Given the description of an element on the screen output the (x, y) to click on. 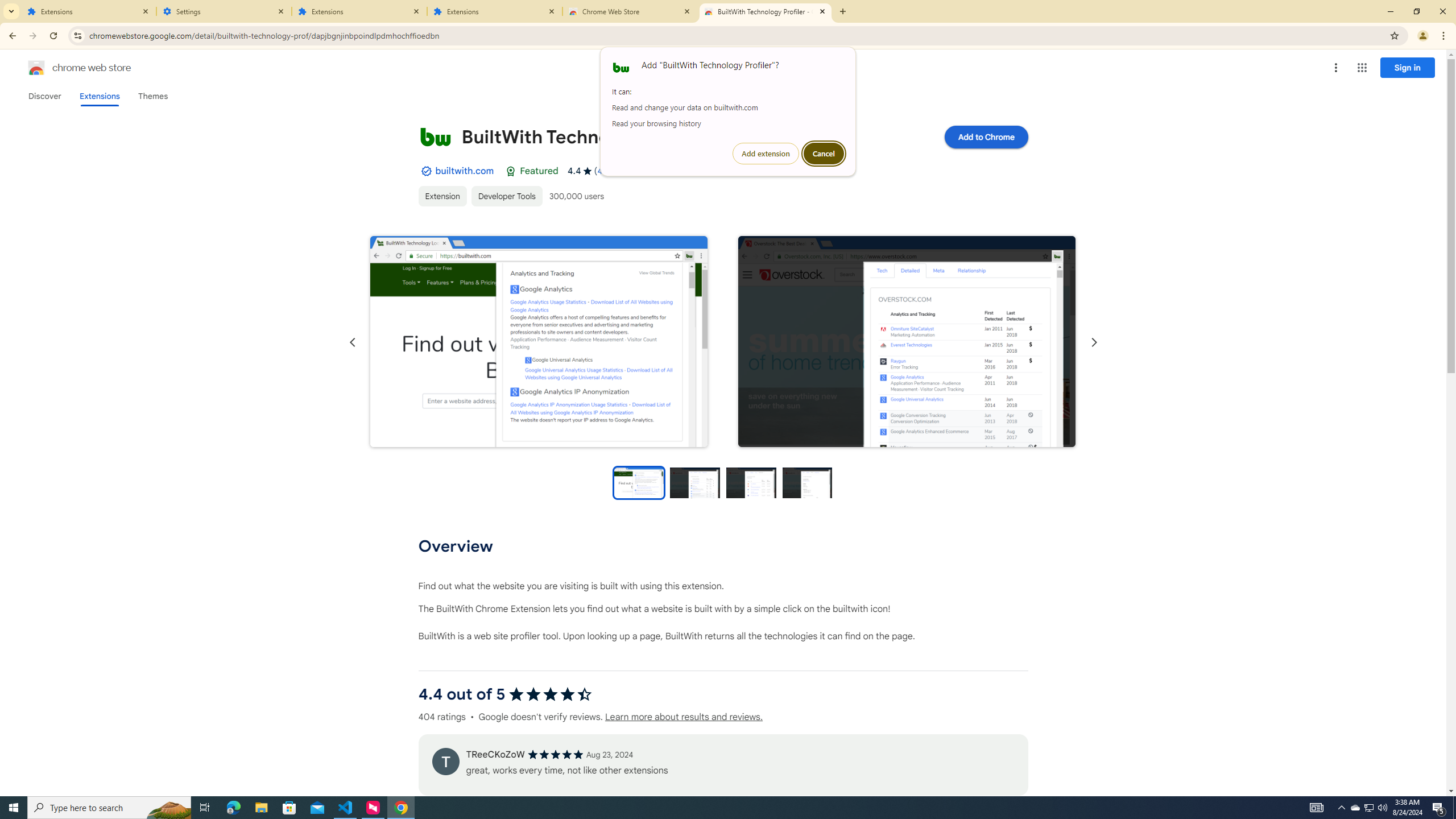
Visual Studio Code - 1 running window (345, 807)
File Explorer (261, 807)
Next slide (1093, 342)
Featured Badge (510, 170)
Extensions (99, 95)
Add to Chrome (985, 136)
Action Center, 5 new notifications (1439, 807)
User Promoted Notification Area (1368, 807)
Show desktop (1454, 807)
Task View (204, 807)
Microsoft Store (289, 807)
Extensions (88, 11)
